Given the description of an element on the screen output the (x, y) to click on. 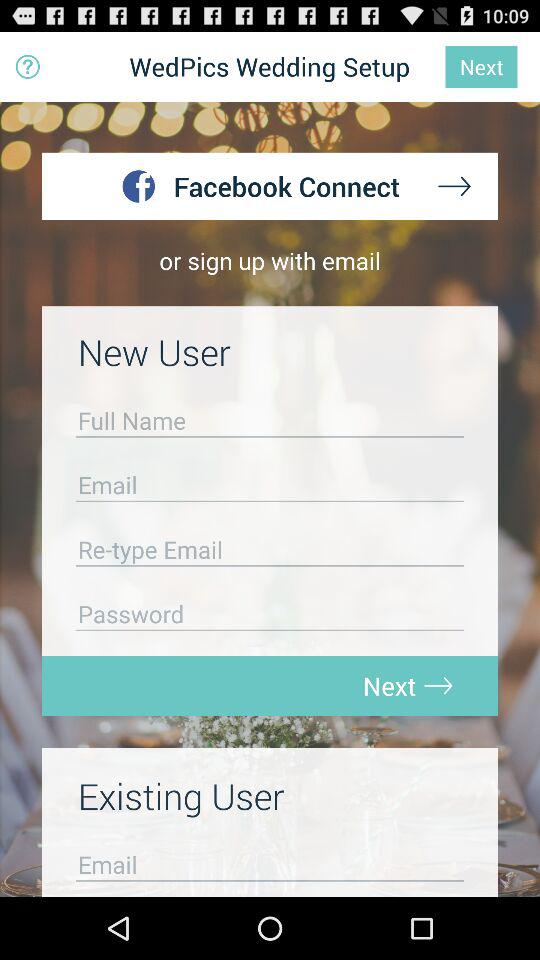
select icon to the left of wedpics wedding setup item (27, 66)
